Given the description of an element on the screen output the (x, y) to click on. 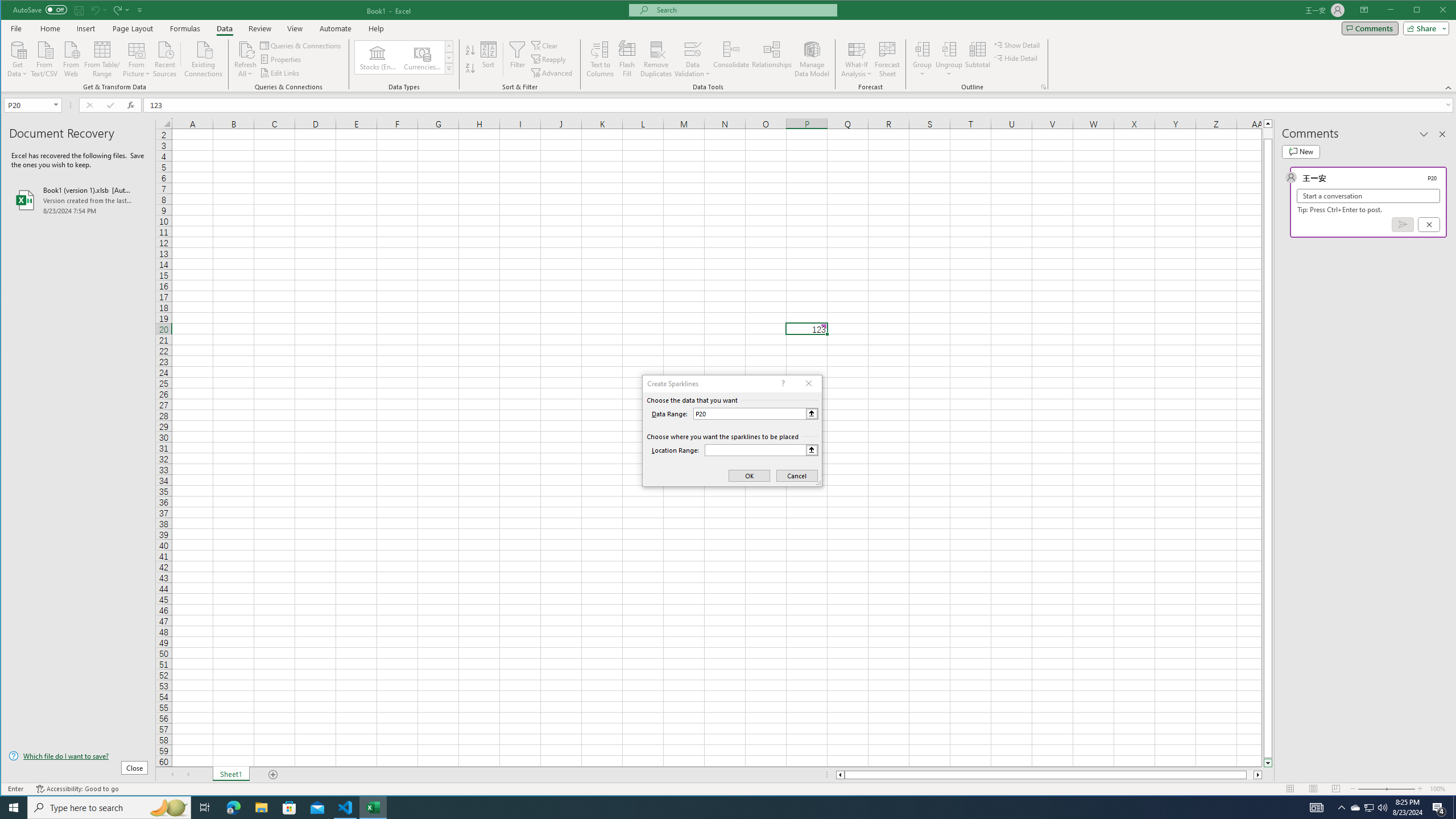
Sort... (488, 59)
